Given the description of an element on the screen output the (x, y) to click on. 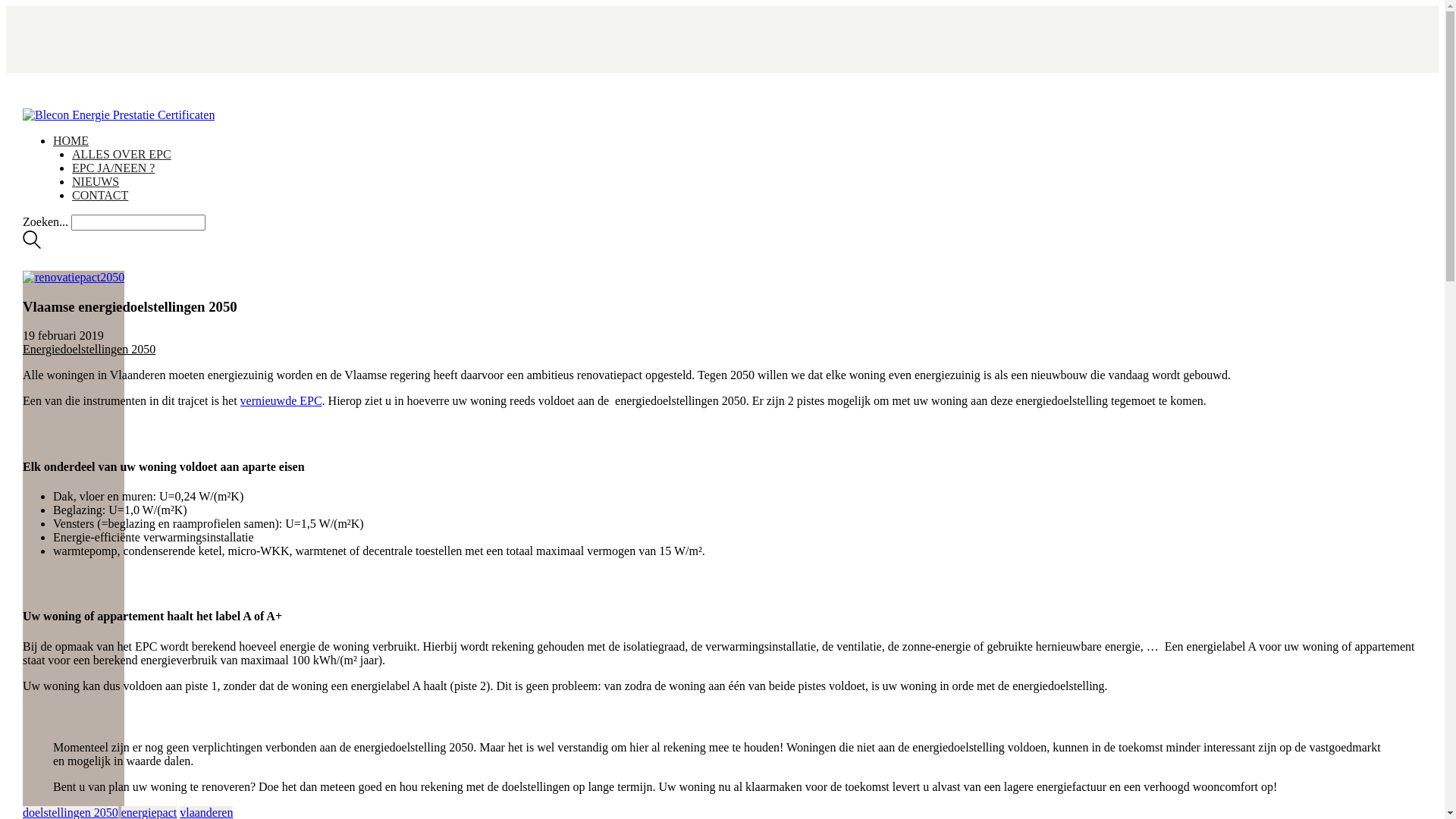
energiepact Element type: text (148, 811)
HOME Element type: text (70, 140)
vlaanderen Element type: text (205, 811)
Energiedoelstellingen 2050 Element type: text (88, 348)
CONTACT Element type: text (100, 194)
doelstellingen 2050 Element type: text (70, 811)
vernieuwde EPC Element type: text (281, 400)
EPC JA/NEEN ? Element type: text (113, 167)
ALLES OVER EPC Element type: text (121, 153)
NIEUWS Element type: text (95, 181)
